Given the description of an element on the screen output the (x, y) to click on. 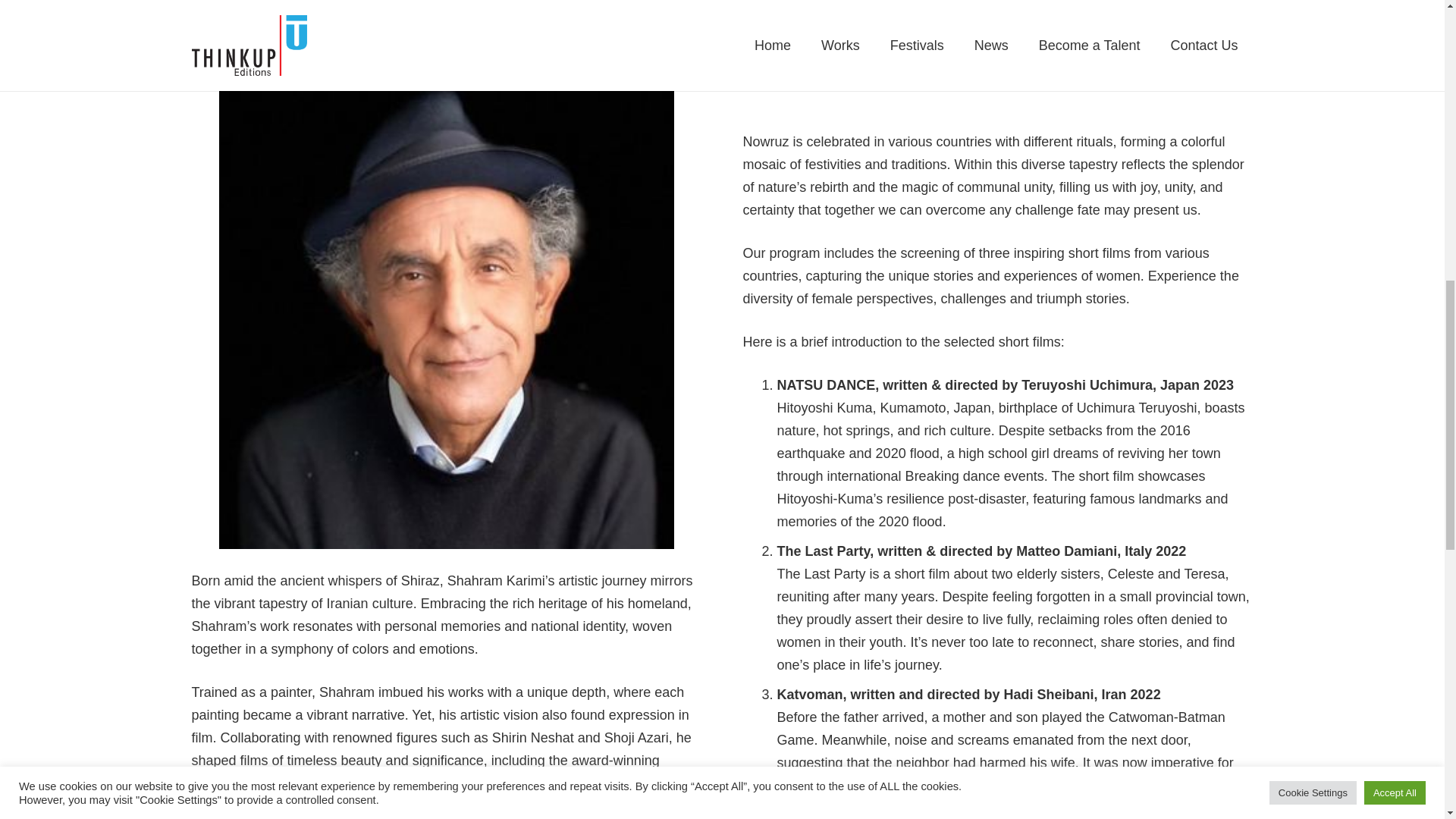
Back to top (1413, 37)
